Given the description of an element on the screen output the (x, y) to click on. 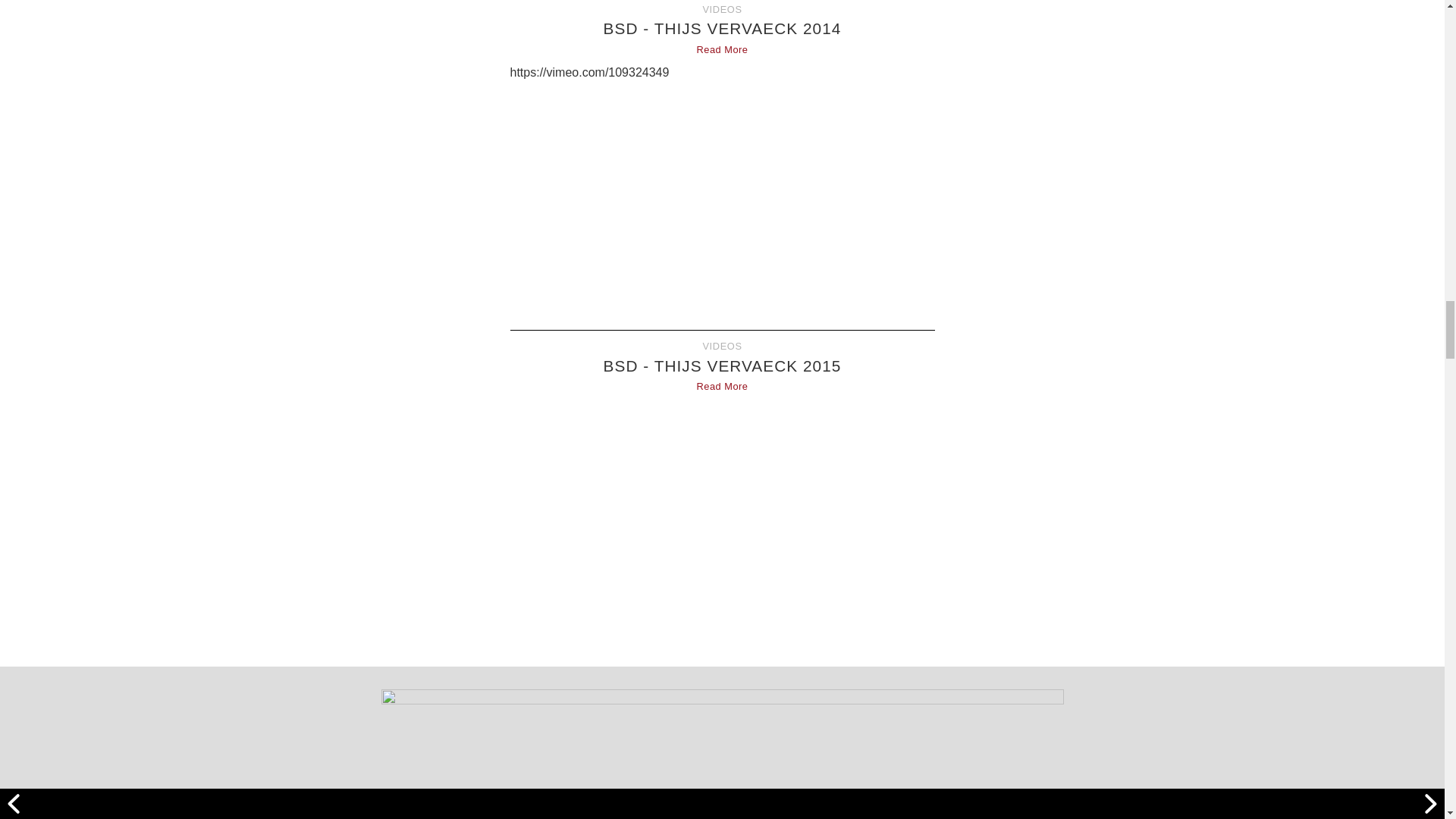
Read More (722, 49)
Read More (722, 386)
YouTube video player (721, 522)
